Given the description of an element on the screen output the (x, y) to click on. 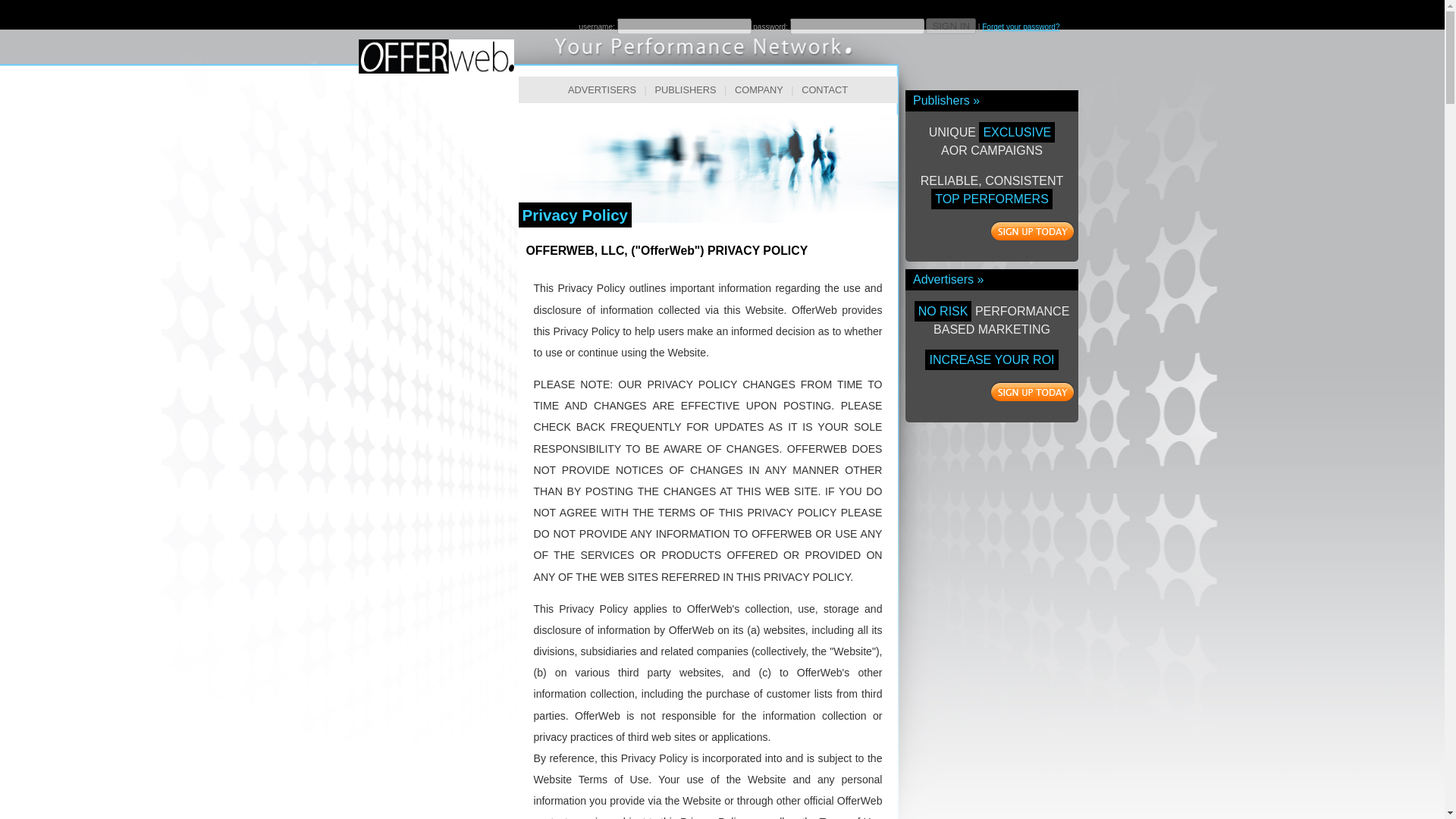
ADVERTISERS (602, 89)
SIGN IN (950, 26)
Forget your password? (1020, 26)
CONTACT (824, 89)
COMPANY (759, 89)
PUBLISHERS (684, 89)
